Given the description of an element on the screen output the (x, y) to click on. 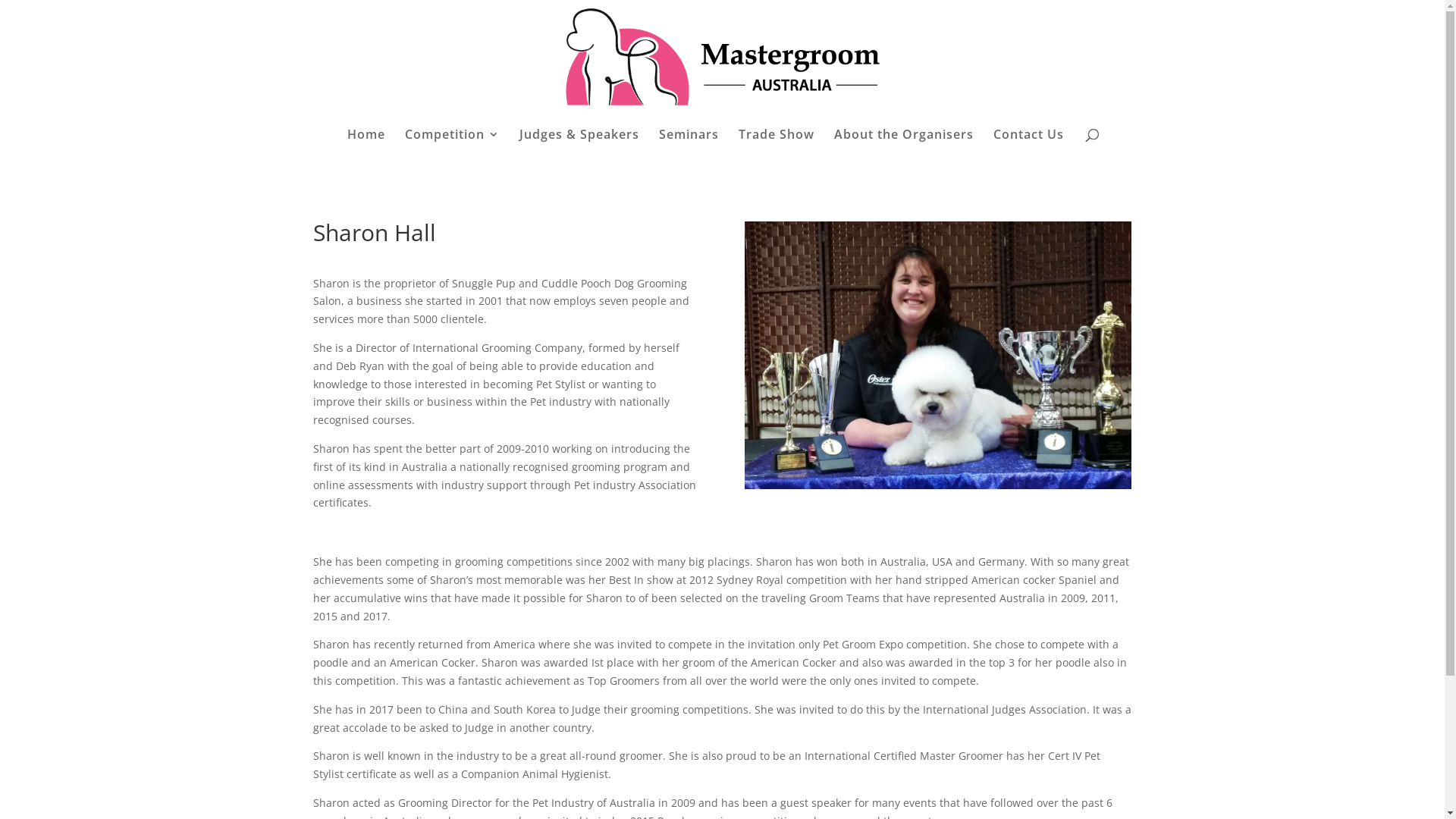
Judges & Speakers Element type: text (579, 144)
Contact Us Element type: text (1028, 144)
Trade Show Element type: text (776, 144)
Home Element type: text (366, 144)
About the Organisers Element type: text (903, 144)
Seminars Element type: text (688, 144)
Competition Element type: text (451, 144)
